Given the description of an element on the screen output the (x, y) to click on. 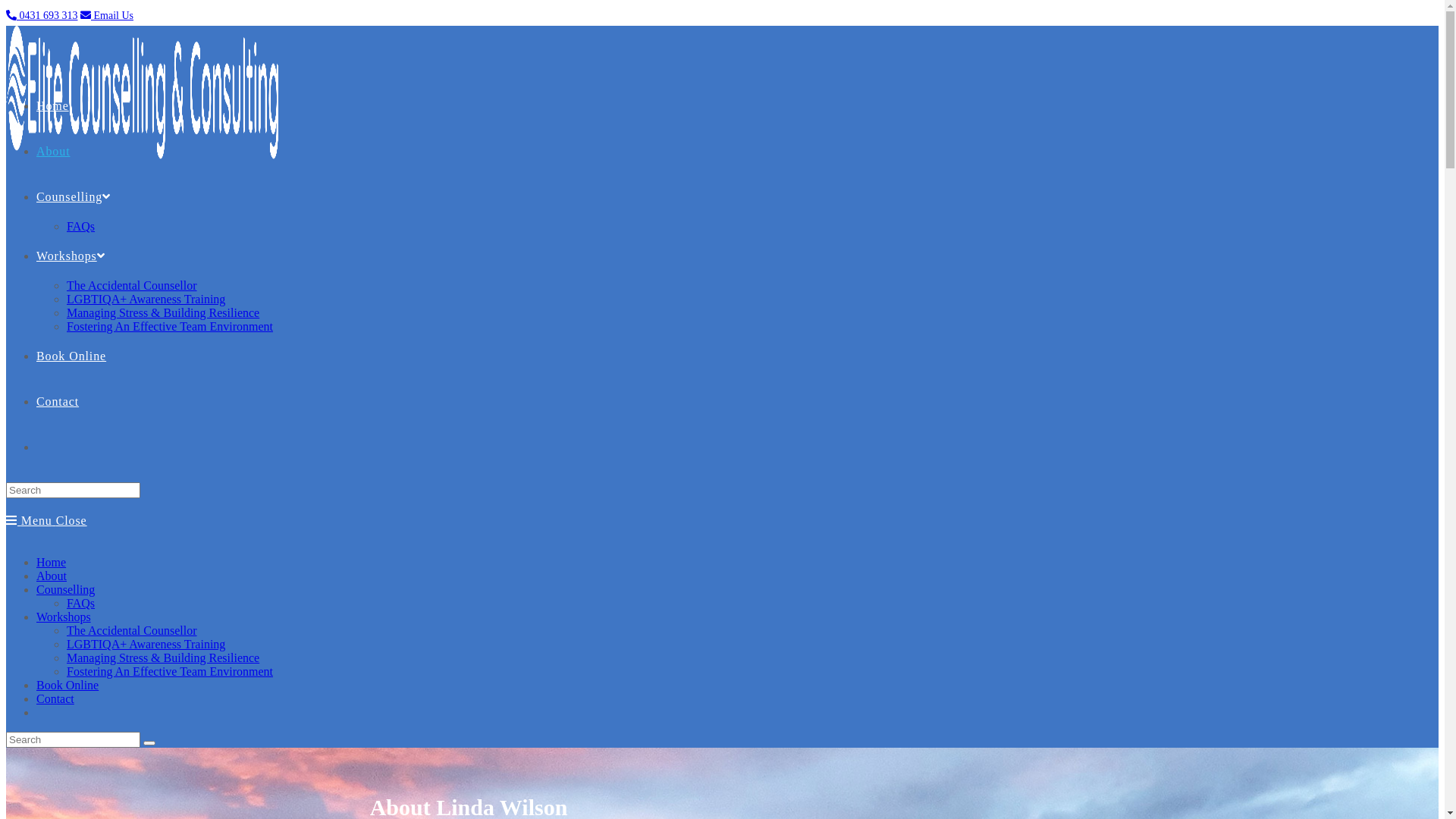
Workshops Element type: text (63, 616)
Workshops Element type: text (70, 255)
0431 693 313 Element type: text (42, 15)
Book Online Element type: text (71, 355)
The Accidental Counsellor Element type: text (131, 285)
FAQs Element type: text (80, 225)
Counselling Element type: text (65, 589)
About Element type: text (51, 575)
About Element type: text (53, 150)
Contact Element type: text (55, 698)
LGBTIQA+ Awareness Training Element type: text (145, 643)
Home Element type: text (50, 561)
Fostering An Effective Team Environment Element type: text (169, 671)
Book Online Element type: text (67, 684)
Menu Close Element type: text (46, 520)
Skip to content Element type: text (5, 5)
Managing Stress & Building Resilience Element type: text (162, 657)
Contact Element type: text (57, 401)
The Accidental Counsellor Element type: text (131, 630)
Home Element type: text (52, 105)
Email Us Element type: text (106, 15)
Managing Stress & Building Resilience Element type: text (162, 312)
Counselling Element type: text (73, 196)
Fostering An Effective Team Environment Element type: text (169, 326)
LGBTIQA+ Awareness Training Element type: text (145, 298)
FAQs Element type: text (80, 602)
